Given the description of an element on the screen output the (x, y) to click on. 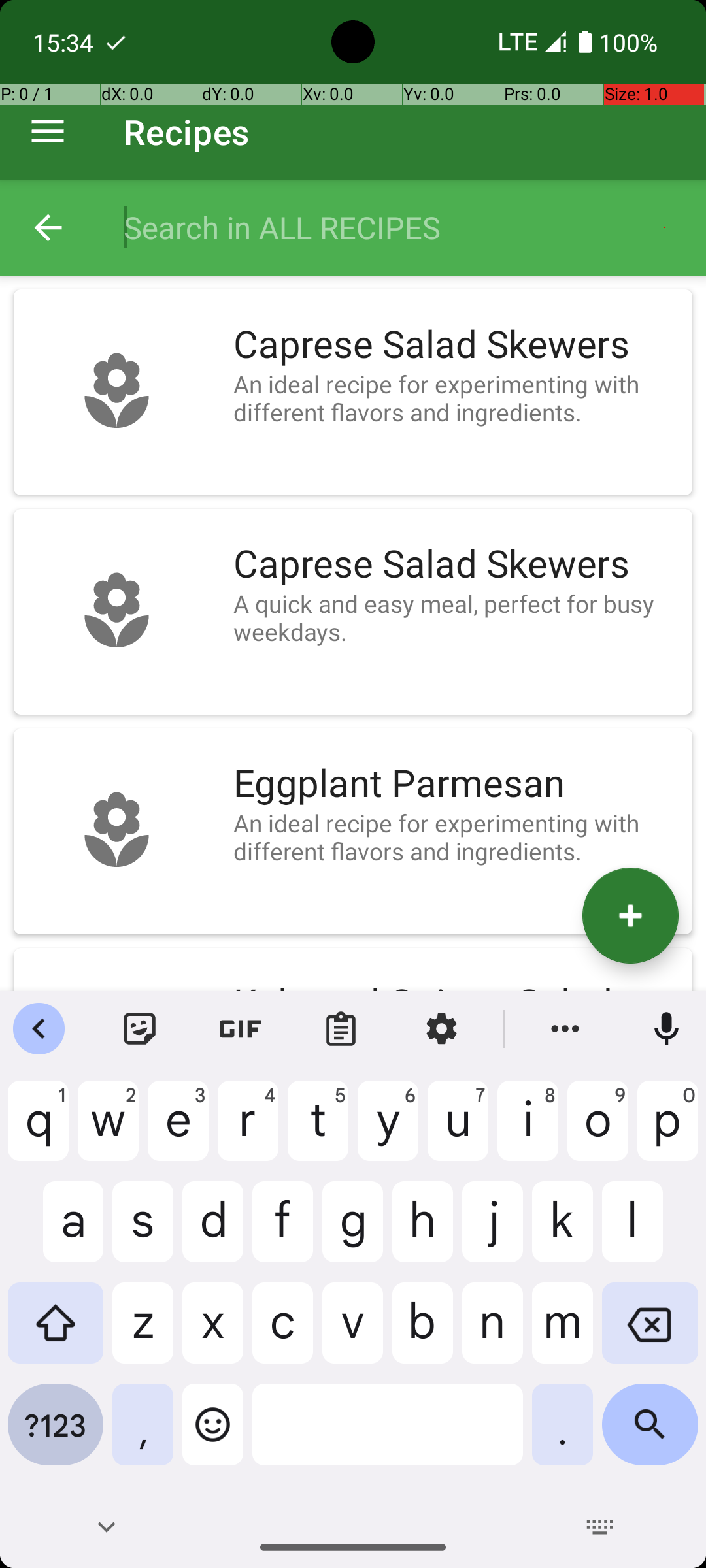
Search in ALL RECIPES Element type: android.widget.AutoCompleteTextView (400, 227)
